Given the description of an element on the screen output the (x, y) to click on. 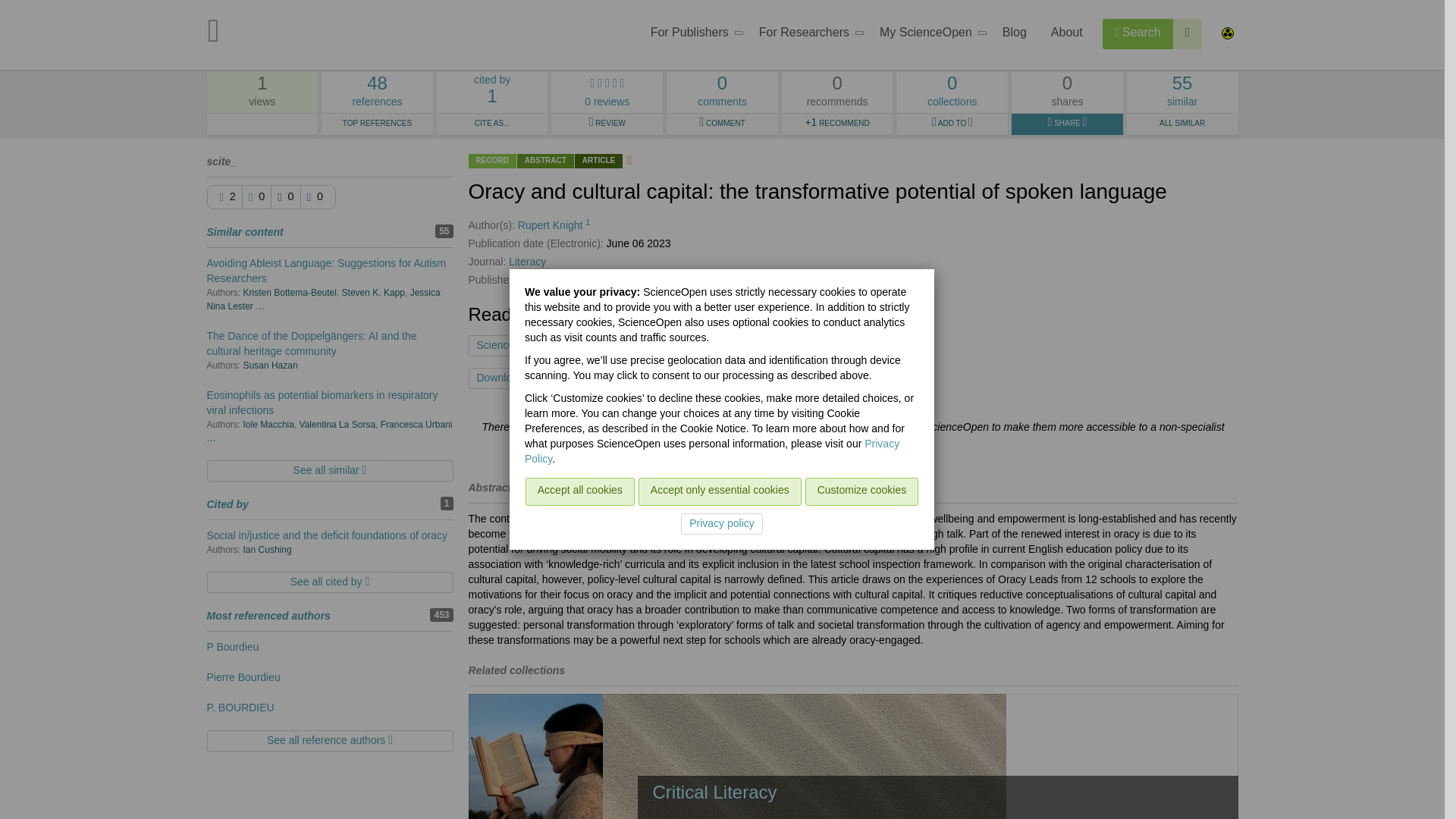
TOP REFERENCES (376, 92)
Bookmark (376, 124)
For Researchers (647, 378)
My ScienceOpen (806, 34)
For Publishers (928, 34)
Advanced search (692, 34)
Search (1187, 33)
